Given the description of an element on the screen output the (x, y) to click on. 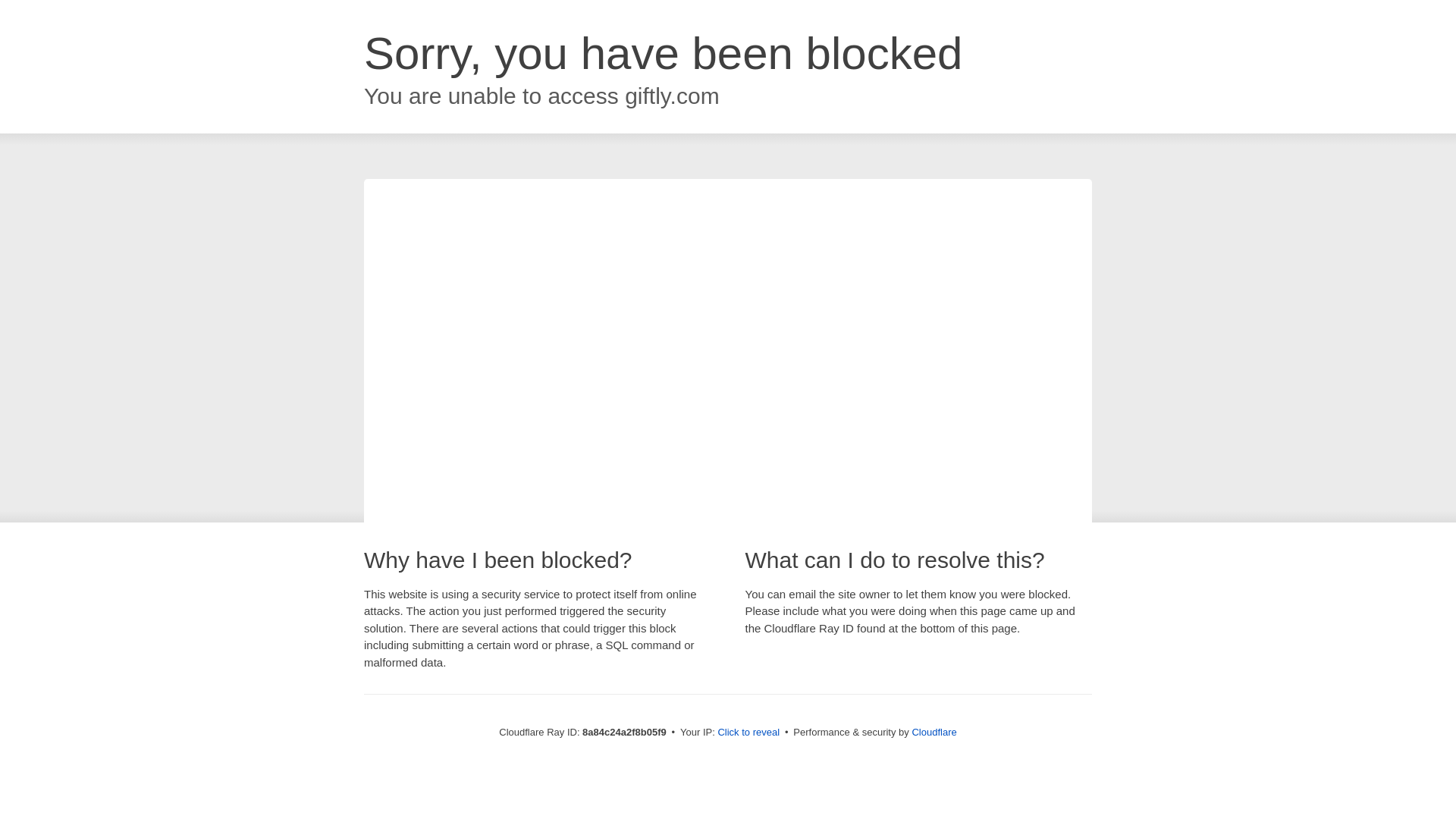
Cloudflare (933, 731)
Click to reveal (747, 732)
